Given the description of an element on the screen output the (x, y) to click on. 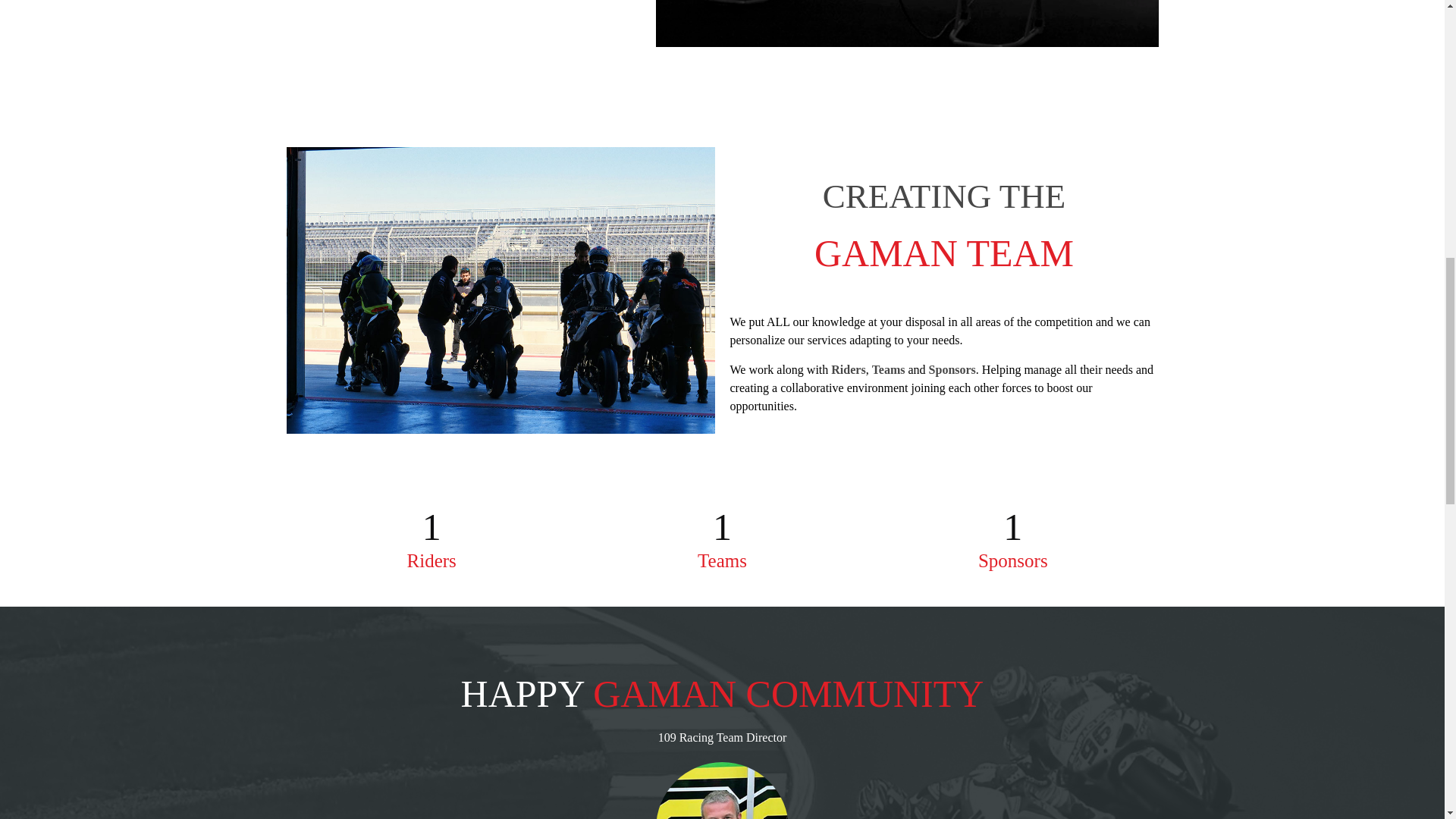
Screenshot 2022-02-28 at 23.38.49 (907, 23)
Gaman - Creating Team (500, 290)
Paul Tobin (722, 790)
